Given the description of an element on the screen output the (x, y) to click on. 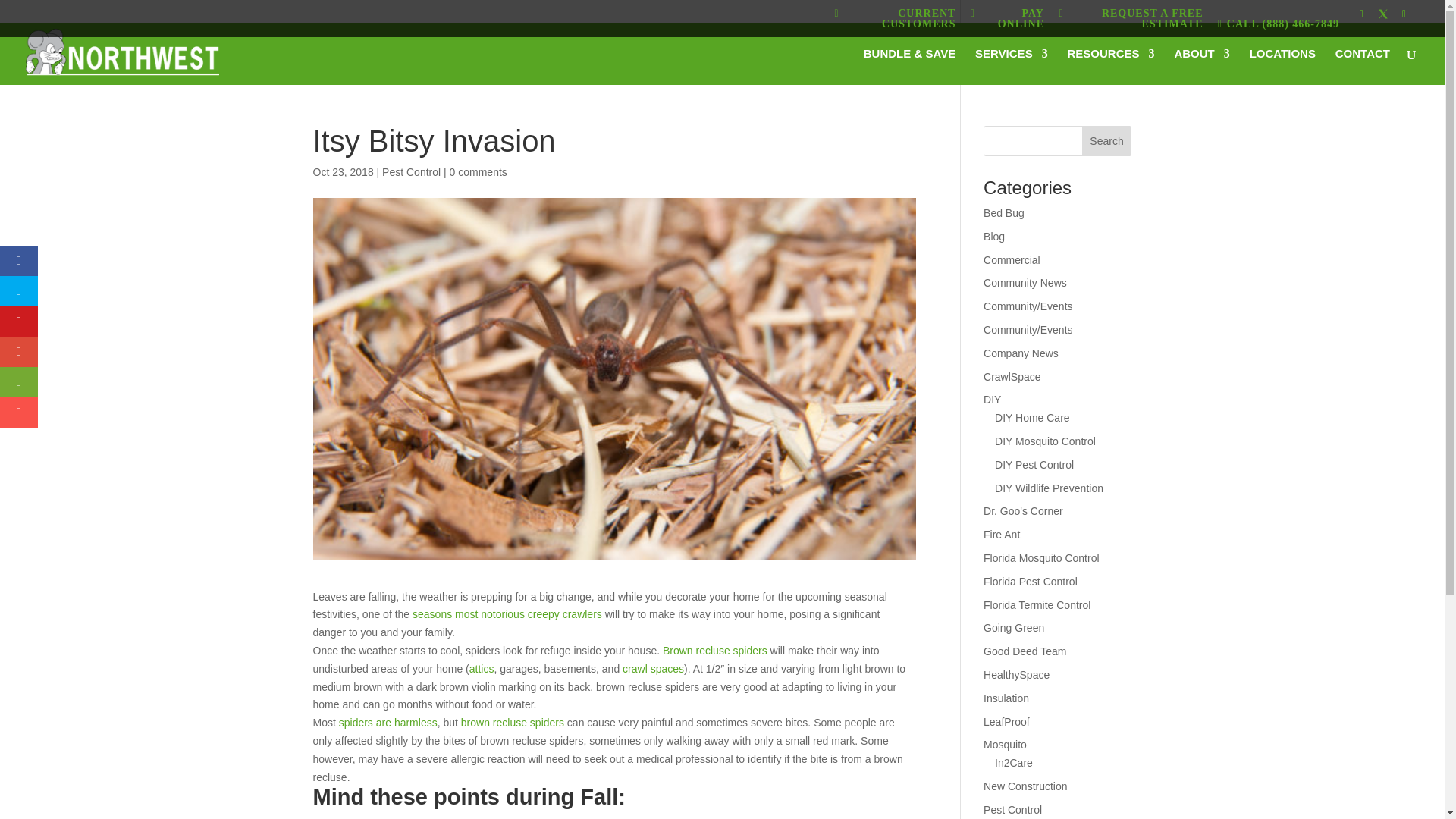
CURRENT CUSTOMERS (894, 21)
ABOUT (1200, 66)
REQUEST A FREE ESTIMATE (1130, 21)
SERVICES (1011, 66)
PAY ONLINE (1007, 21)
Search (1106, 141)
RESOURCES (1110, 66)
